Given the description of an element on the screen output the (x, y) to click on. 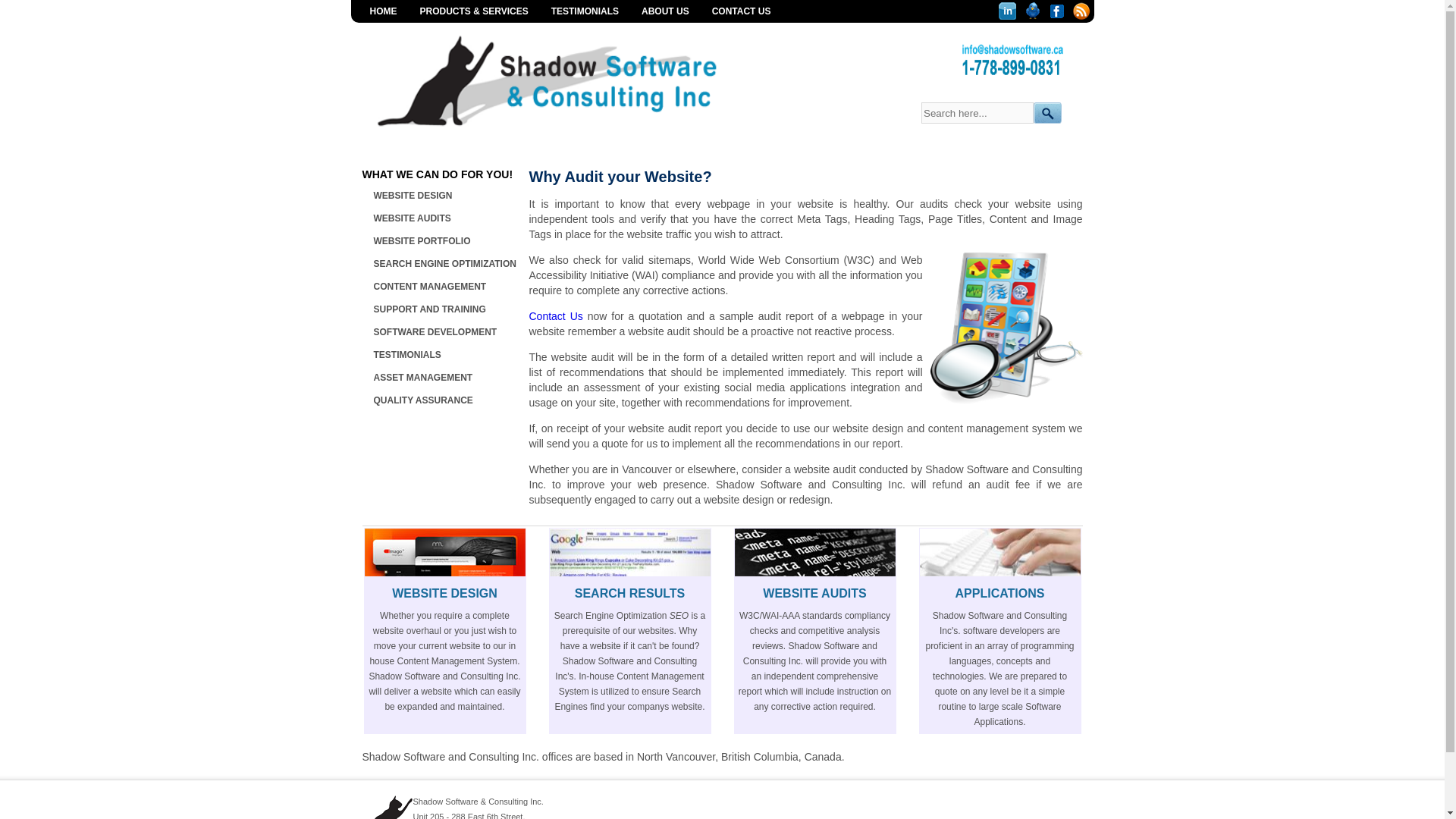
Shadow Software and Consulting Inc. Home Page (576, 132)
TESTIMONIALS (584, 11)
Website Audits Vancouver (1020, 59)
ABOUT US (665, 11)
Contact Us (556, 316)
HOME (383, 11)
Website Audits Vancouver (629, 552)
Website Audits Vancouver (576, 79)
Website Audits Vancouver (1005, 328)
Website Audits Vancouver (444, 552)
Website Audits Vancouver (999, 552)
Website Audits Vancouver (814, 552)
Search here... (978, 112)
Website Audits Vancouver (381, 796)
Enter here what you are looking for (978, 112)
